Given the description of an element on the screen output the (x, y) to click on. 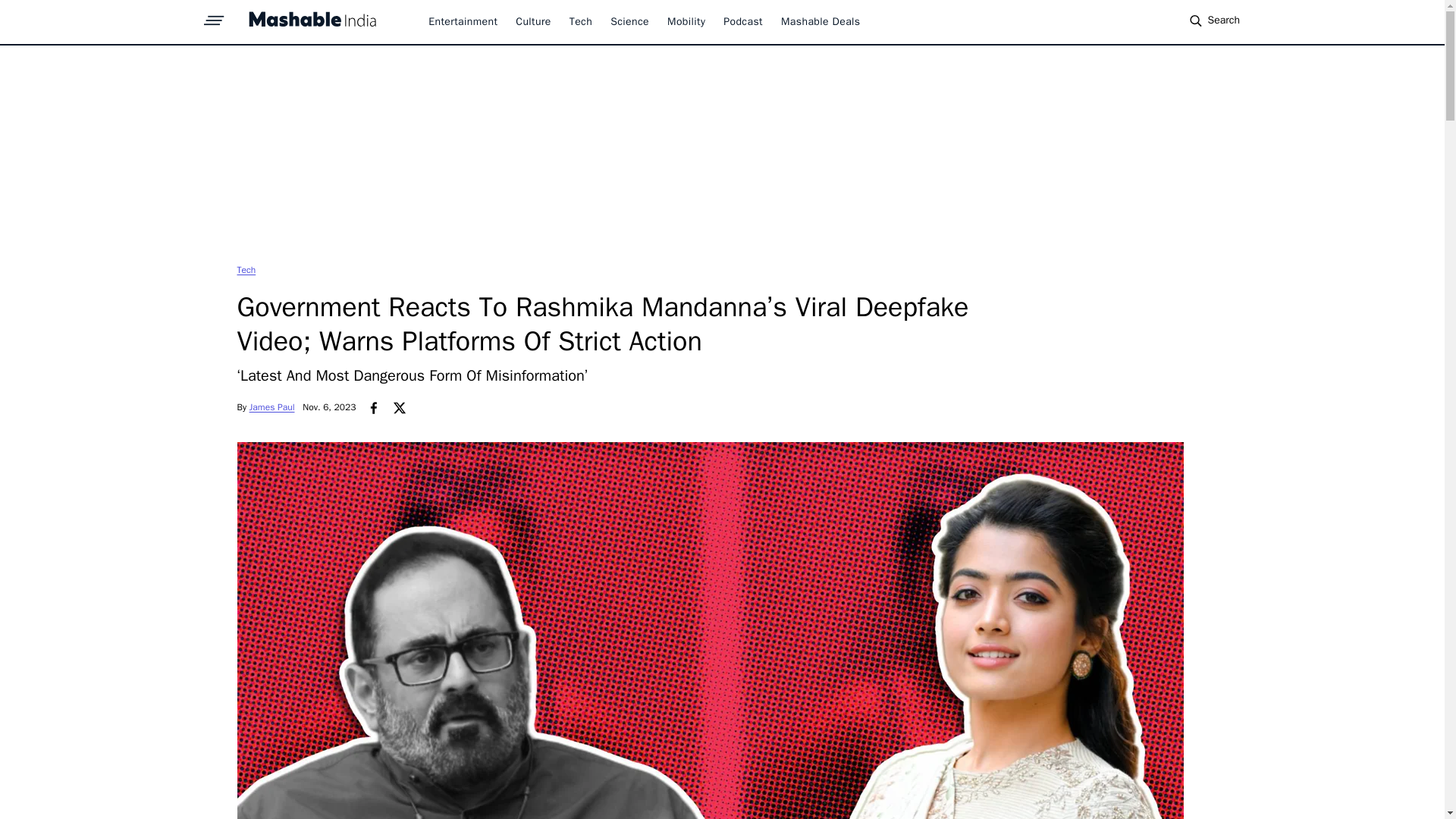
Culture (532, 21)
James Paul (271, 407)
Mashable Deals (820, 21)
sprite-hamburger (213, 16)
Tech (245, 269)
Entertainment (462, 21)
Tech (580, 21)
Mobility (685, 21)
Podcast (742, 21)
Tech (245, 269)
Science (629, 21)
